Given the description of an element on the screen output the (x, y) to click on. 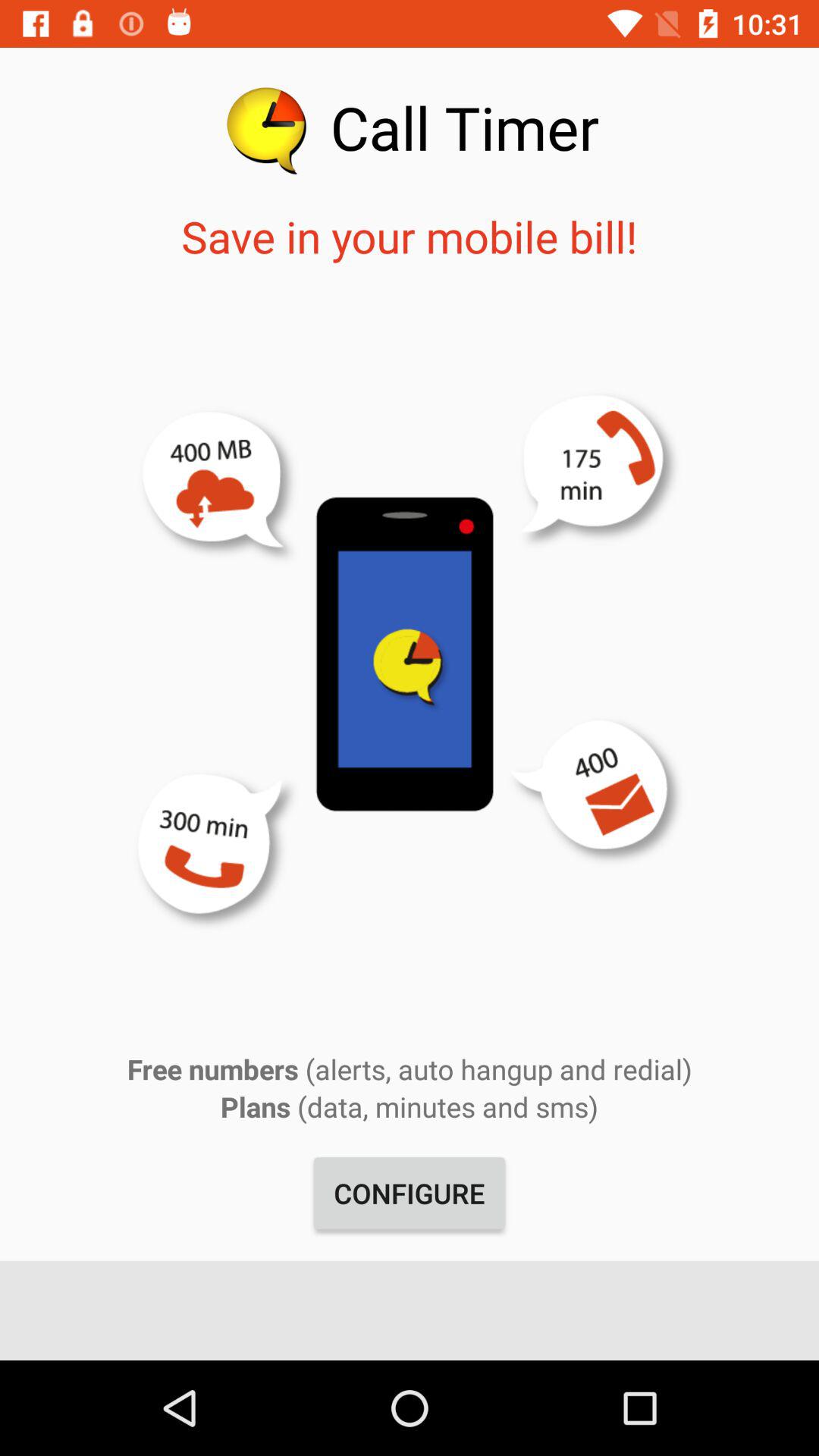
turn off item below the plans data minutes app (409, 1193)
